Given the description of an element on the screen output the (x, y) to click on. 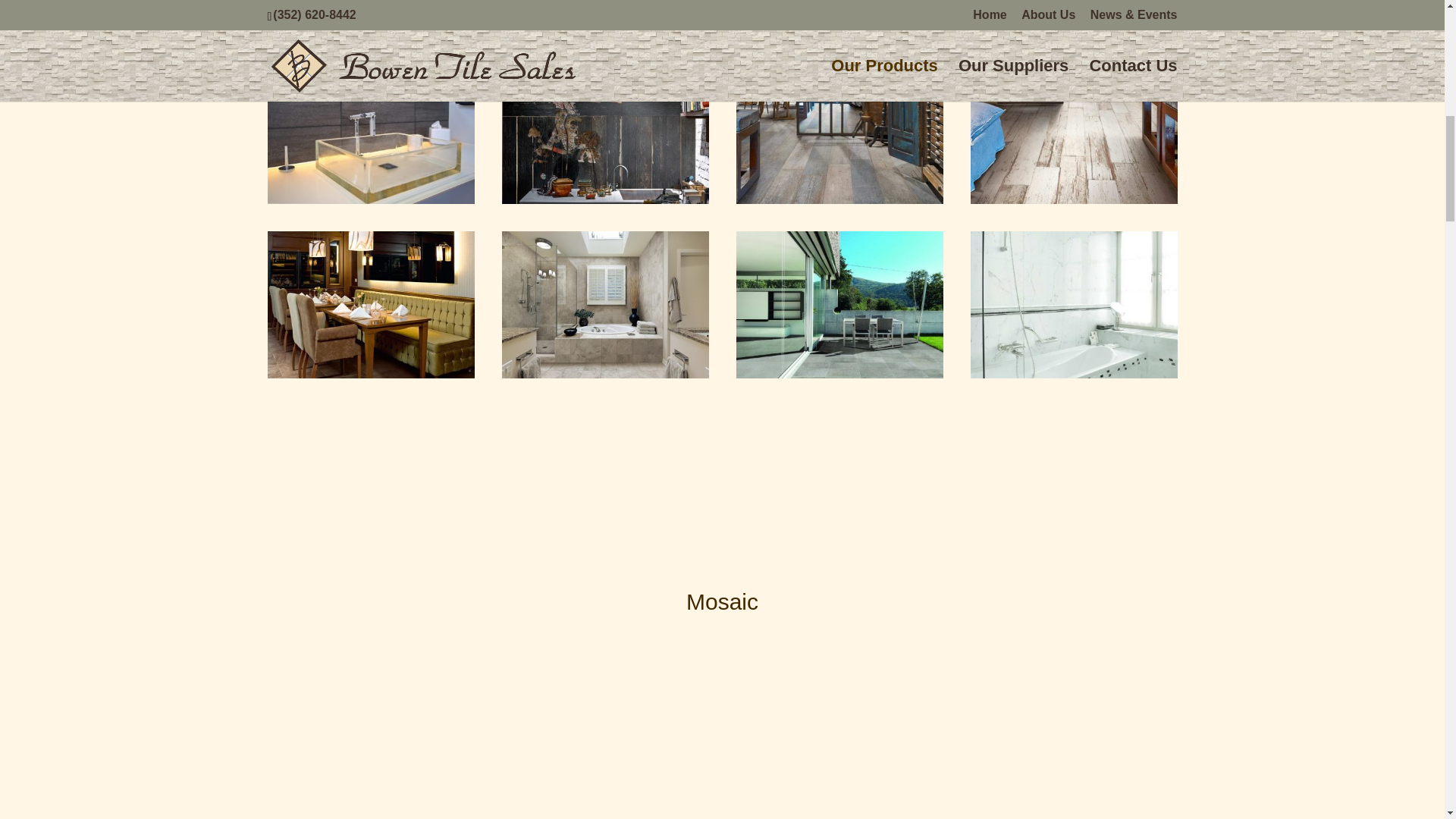
span-silver-textured-12x24-2 (838, 373)
4B9A4404-2-1600 (370, 199)
retroclassique-silver-3x6-2 (370, 548)
marquis-carrara-18x18-2 (1074, 373)
